Given the description of an element on the screen output the (x, y) to click on. 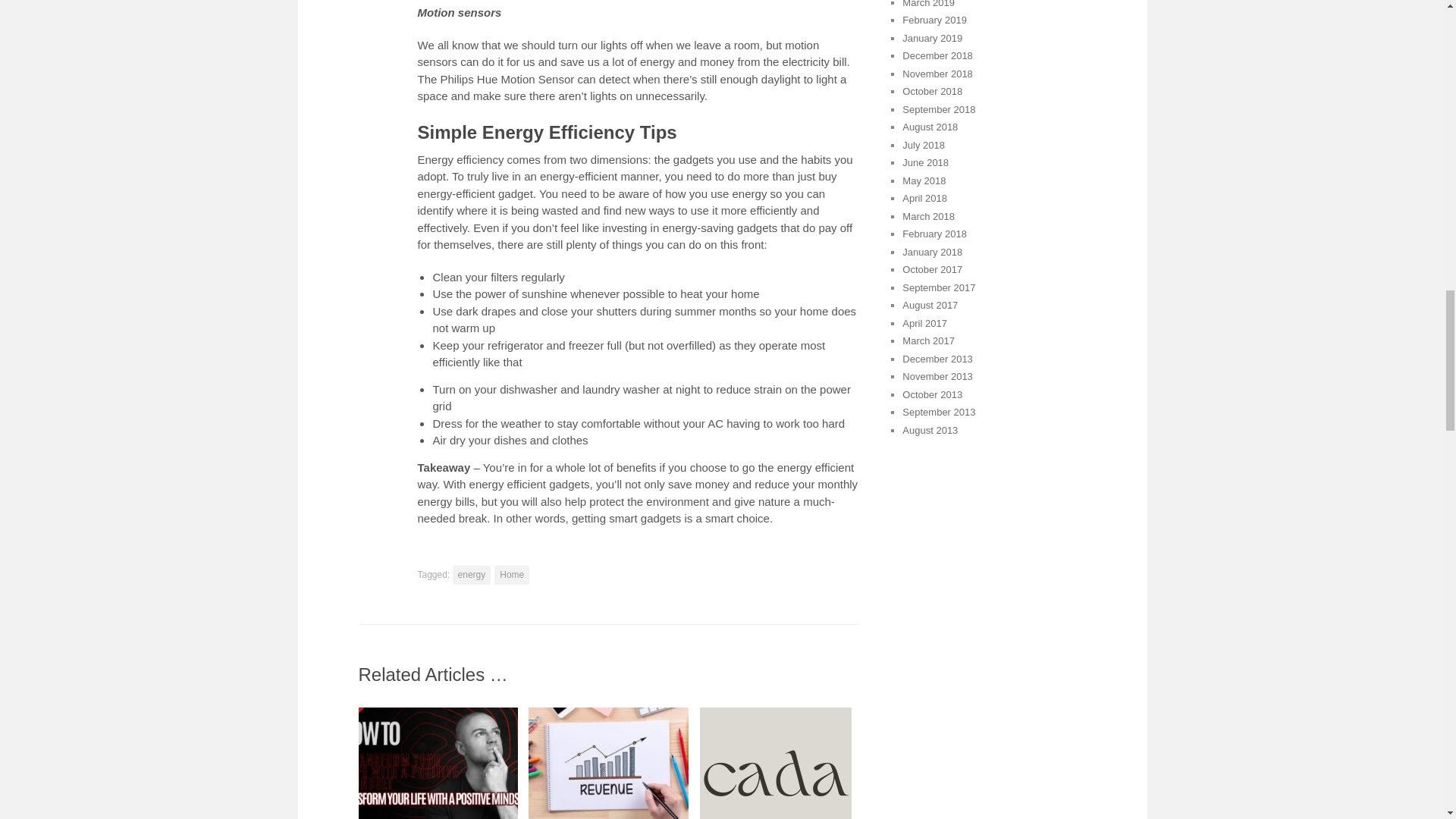
Home (512, 575)
energy (472, 575)
